Given the description of an element on the screen output the (x, y) to click on. 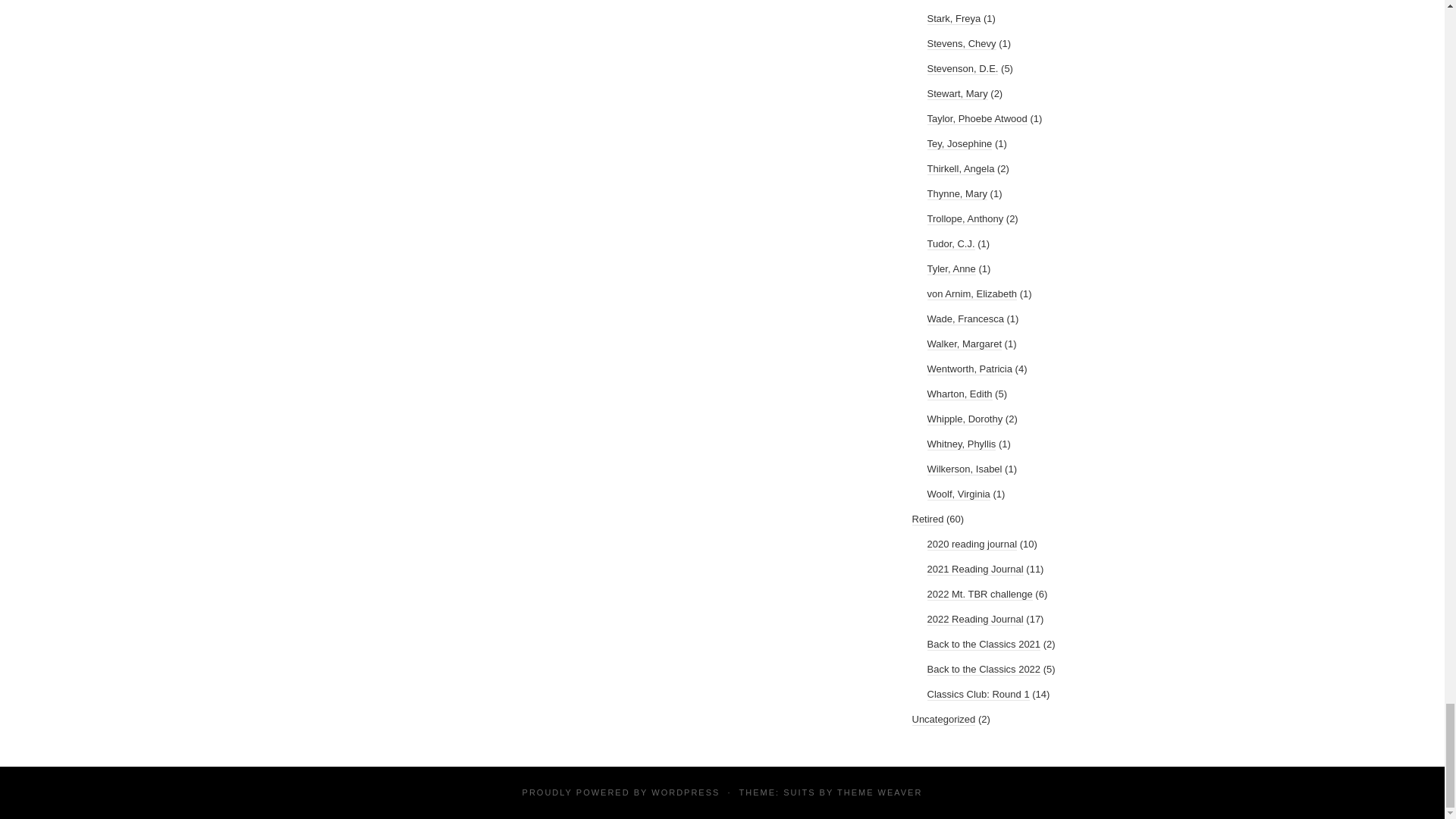
Semantic Personal Publishing Platform (684, 791)
Theme Developer (879, 791)
